Given the description of an element on the screen output the (x, y) to click on. 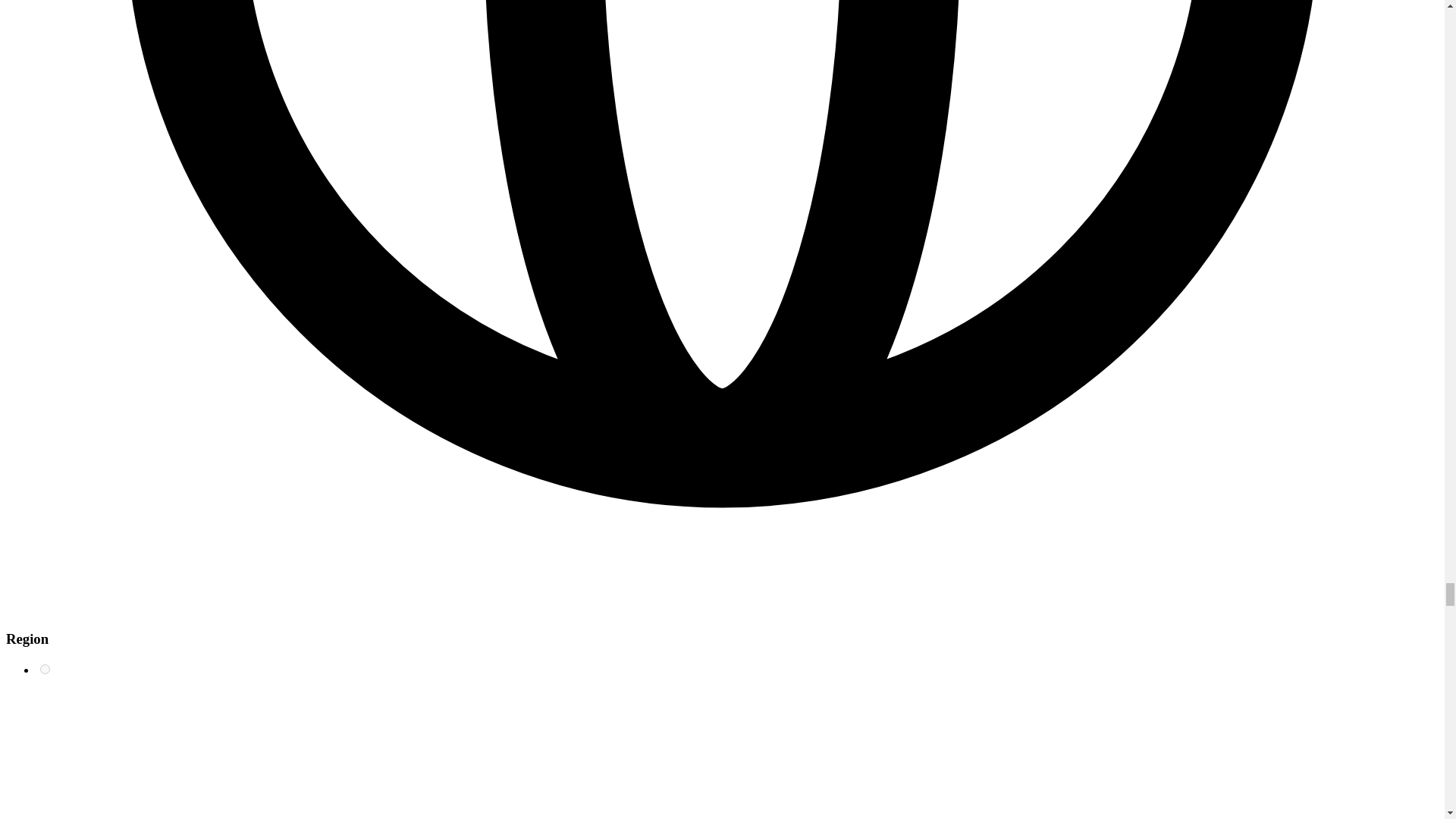
Hong Kong (44, 669)
